Given the description of an element on the screen output the (x, y) to click on. 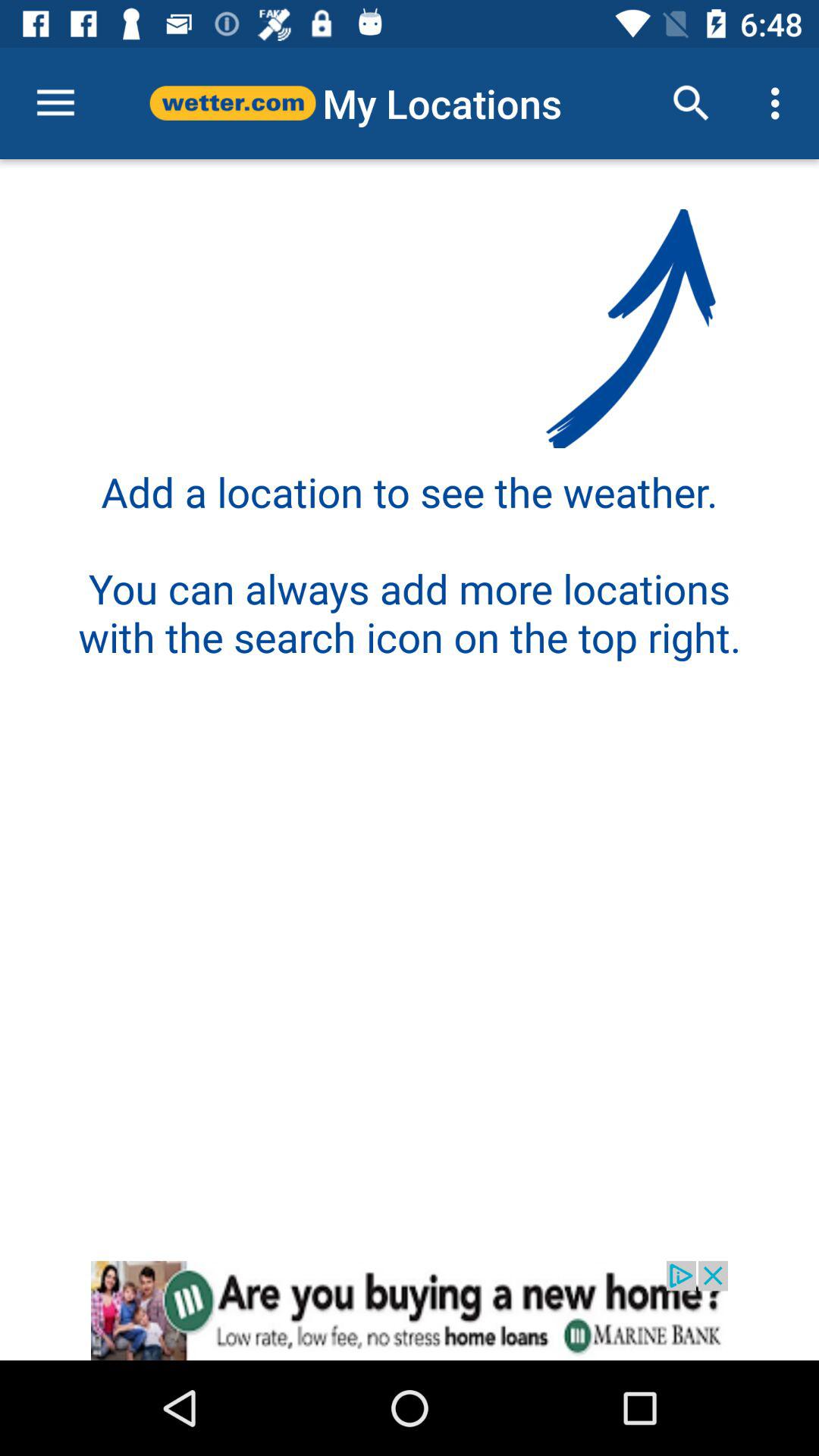
open advertisement (409, 1310)
